Given the description of an element on the screen output the (x, y) to click on. 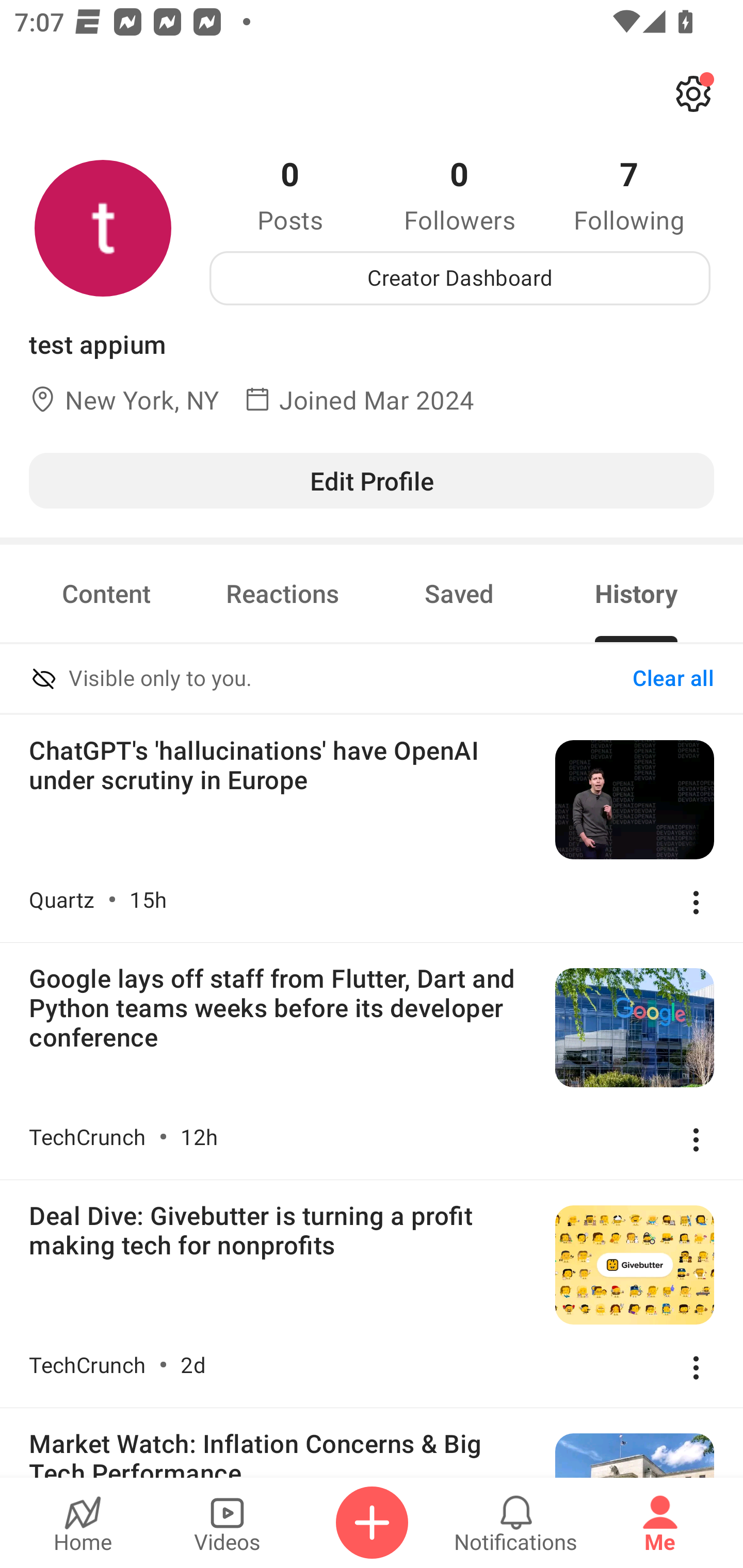
0 Followers (459, 194)
7 Following (629, 194)
Creator Dashboard (459, 277)
Edit Profile (371, 480)
Content (105, 593)
Reactions (282, 593)
Saved (459, 593)
Visible only to you. Clear all (371, 679)
Clear all (673, 678)
Home (83, 1522)
Videos (227, 1522)
Notifications (516, 1522)
